Given the description of an element on the screen output the (x, y) to click on. 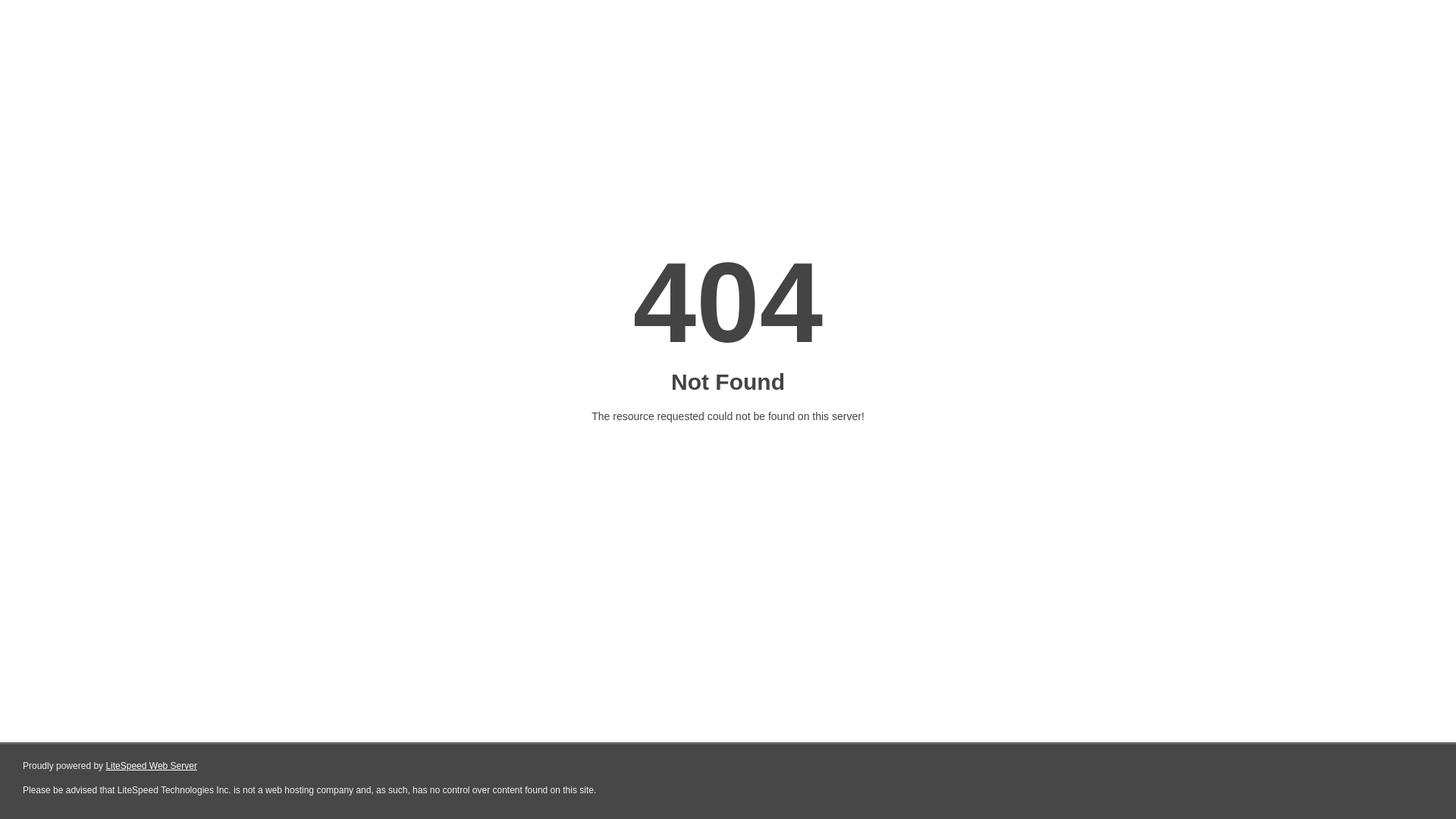
LiteSpeed Web Server Element type: text (151, 765)
